Given the description of an element on the screen output the (x, y) to click on. 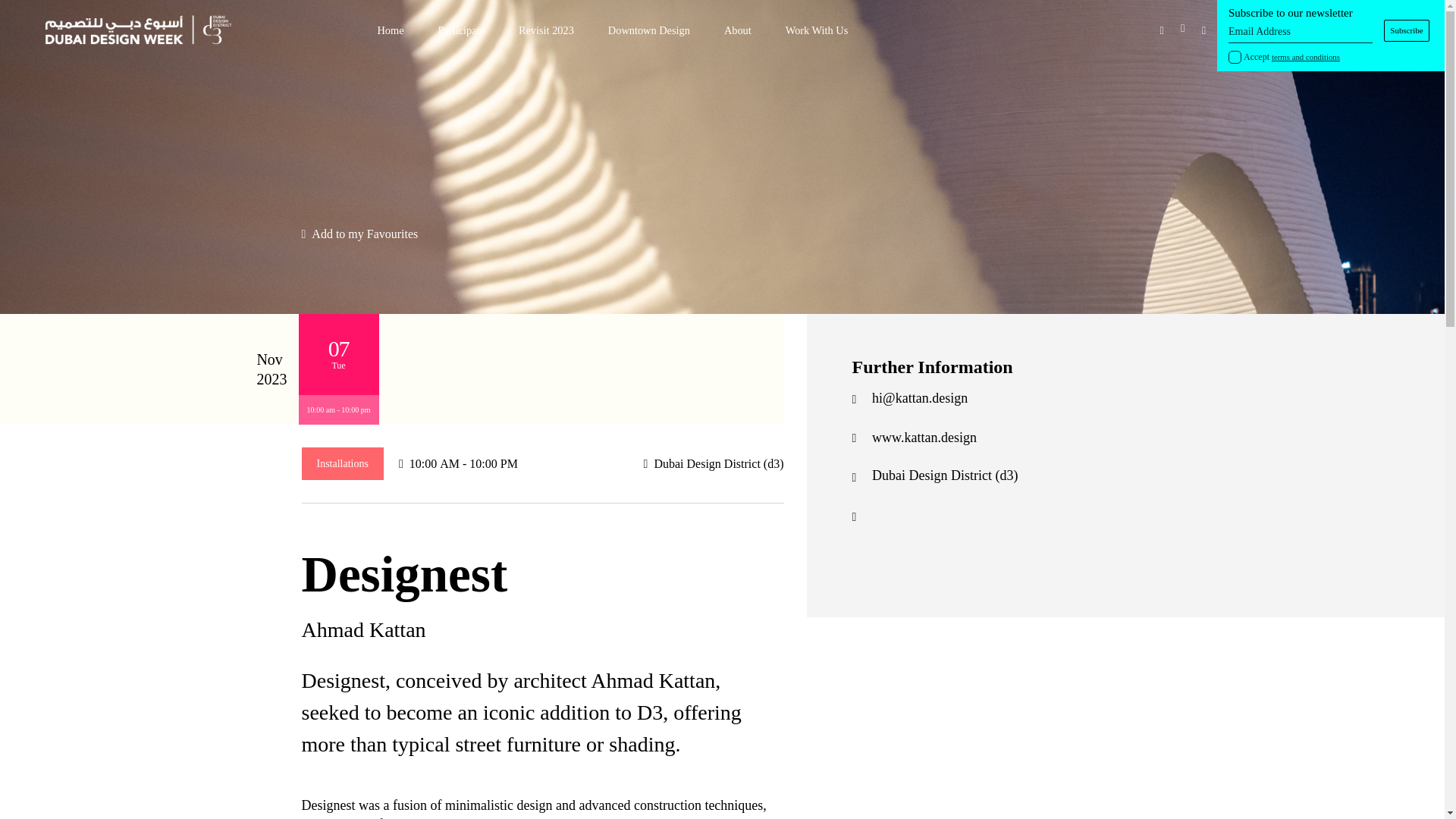
Revisit 2023 (545, 30)
terms and conditions (1305, 56)
www.kattan.design (924, 437)
Downtown Design (649, 30)
Subscribe (1406, 30)
Subscribe (1406, 30)
  Add to my Favourites (360, 233)
Work With Us (817, 30)
